Given the description of an element on the screen output the (x, y) to click on. 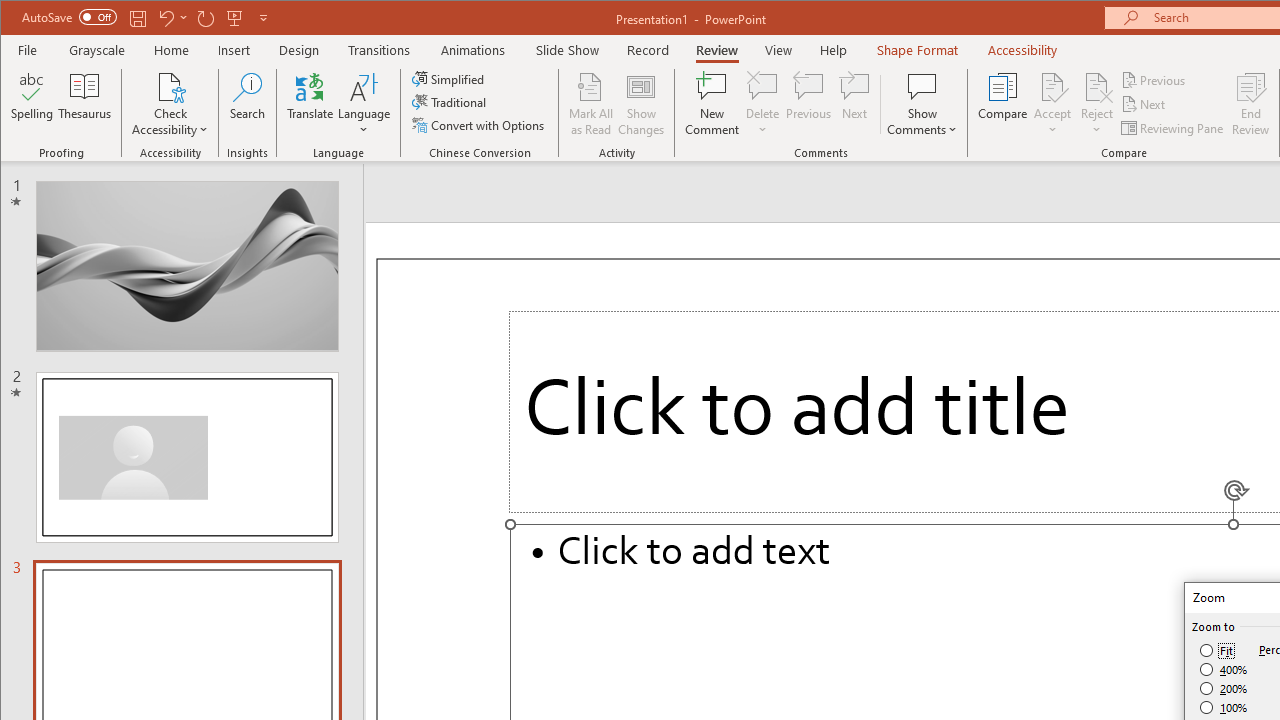
Fit (1217, 650)
Compare (1002, 104)
Reject (1096, 104)
Translate (310, 104)
Mark All as Read (591, 104)
200% (1224, 688)
Show Changes (640, 104)
